Given the description of an element on the screen output the (x, y) to click on. 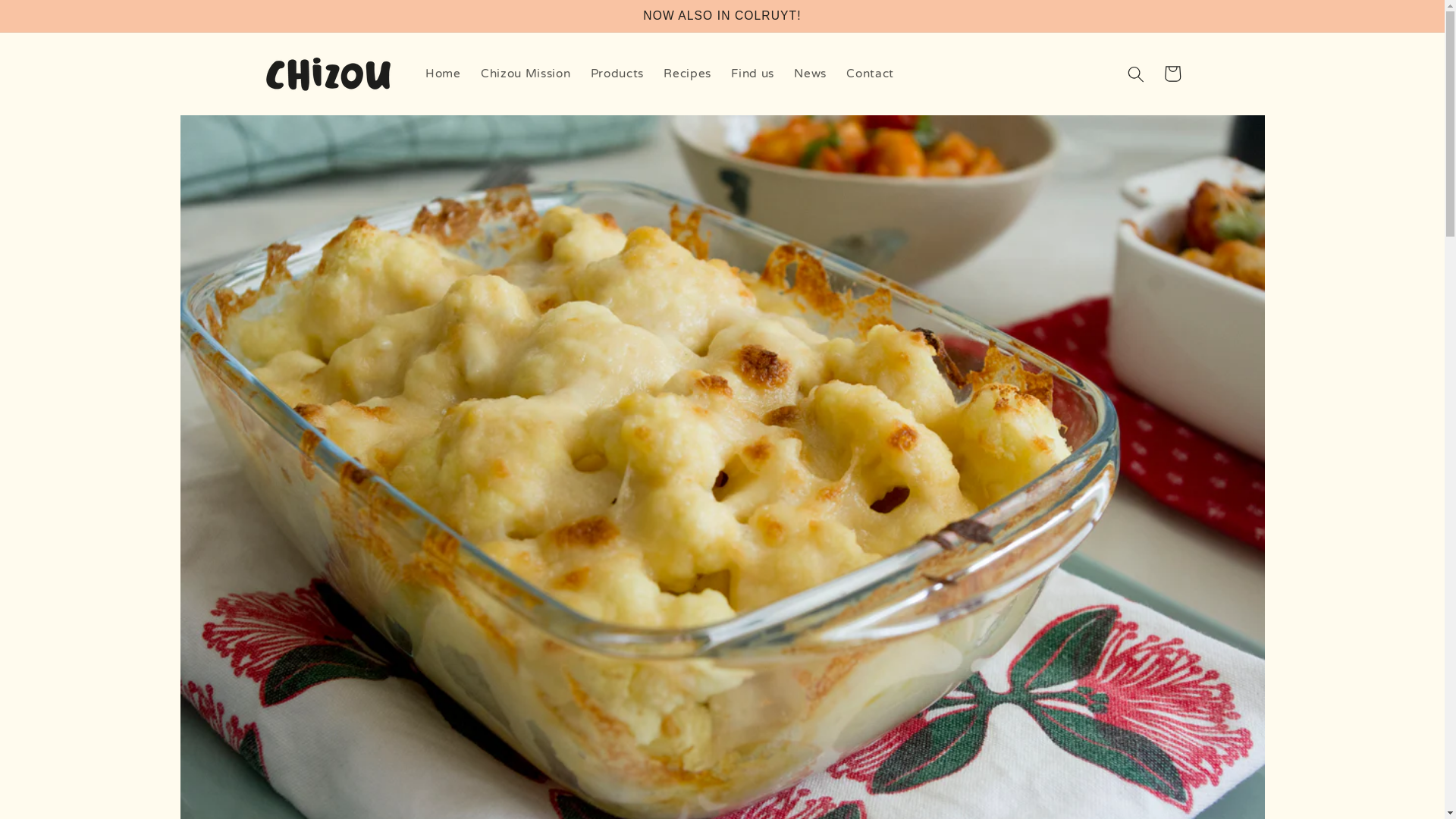
Chizou Mission Element type: text (525, 73)
Products Element type: text (616, 73)
Find us Element type: text (752, 73)
News Element type: text (810, 73)
Recipes Element type: text (687, 73)
Cart Element type: text (1172, 73)
Home Element type: text (442, 73)
Contact Element type: text (869, 73)
